Given the description of an element on the screen output the (x, y) to click on. 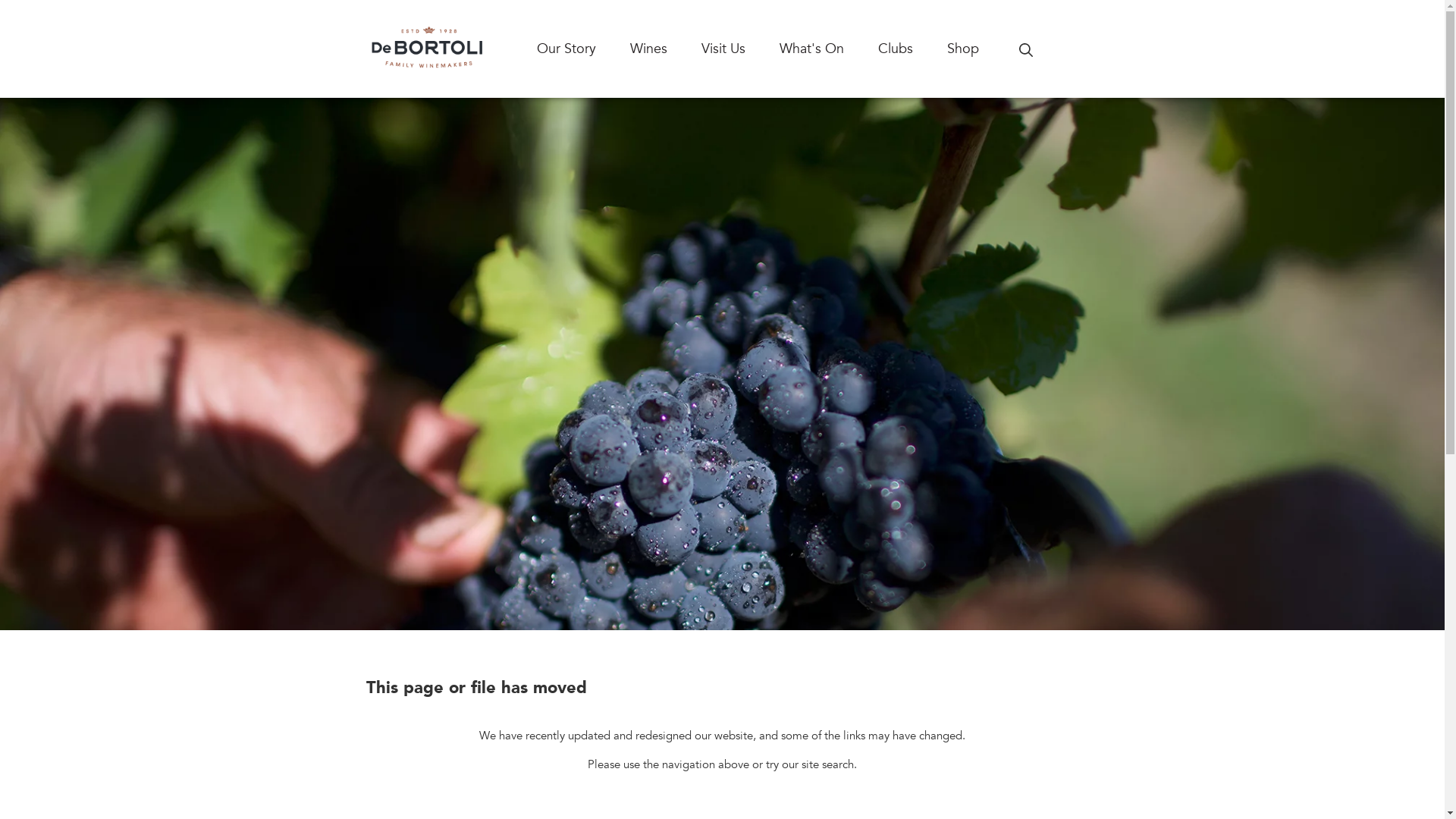
Clubs Element type: text (912, 48)
What's On Element type: text (828, 48)
Wines Element type: text (664, 48)
Our Story Element type: text (583, 48)
Shop Element type: text (979, 48)
Home Element type: text (426, 48)
Visit Us Element type: text (739, 48)
